Given the description of an element on the screen output the (x, y) to click on. 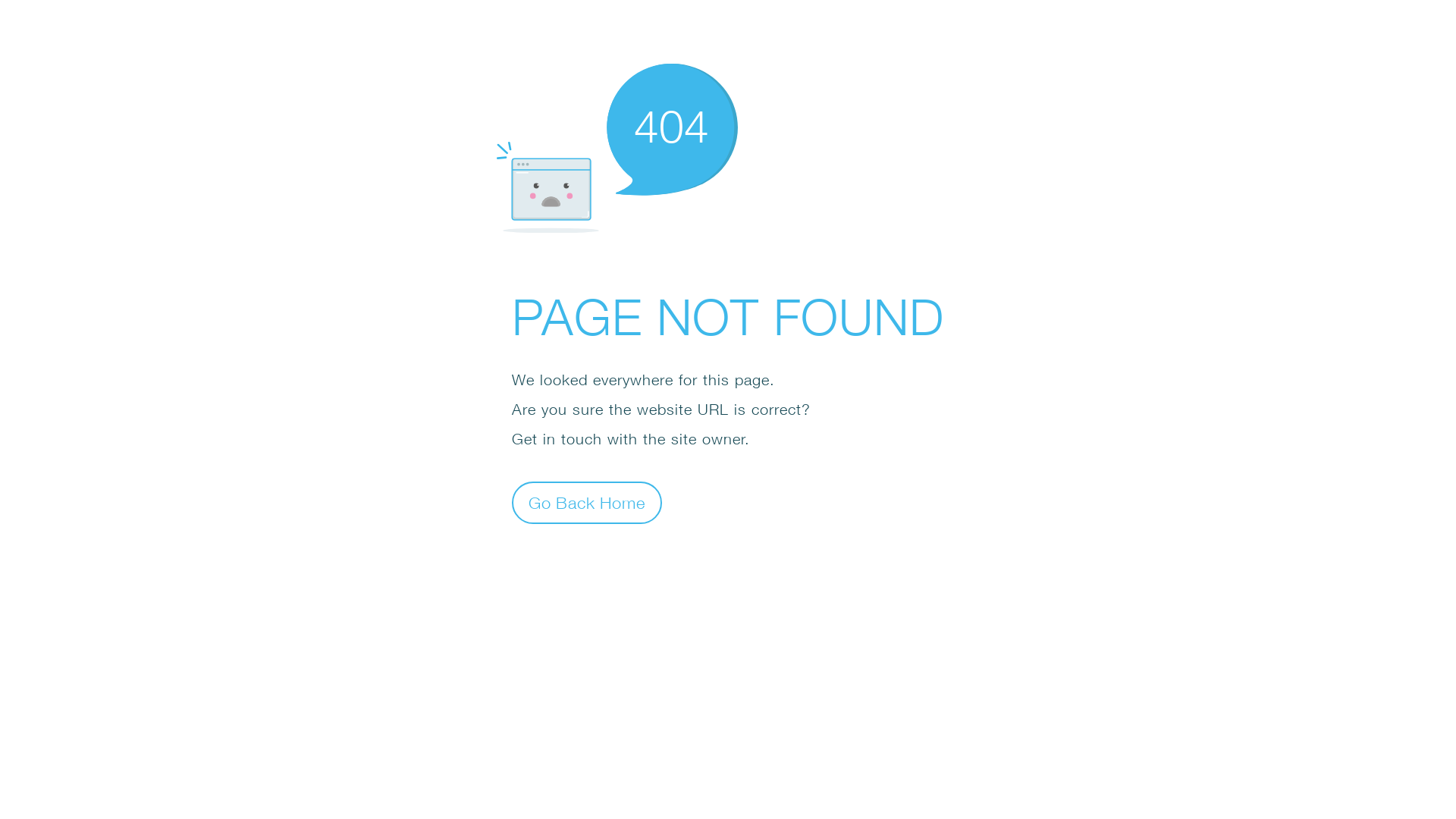
Go Back Home Element type: text (586, 502)
